Given the description of an element on the screen output the (x, y) to click on. 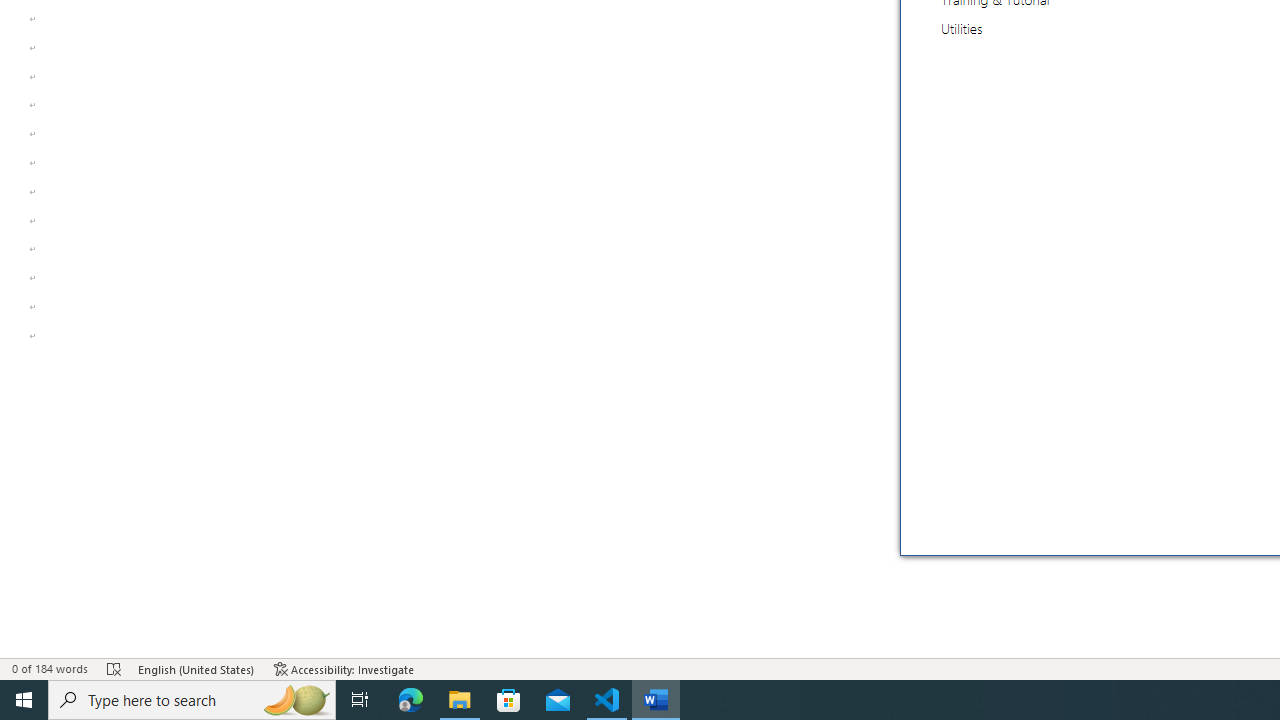
Word - 1 running window (656, 699)
